Given the description of an element on the screen output the (x, y) to click on. 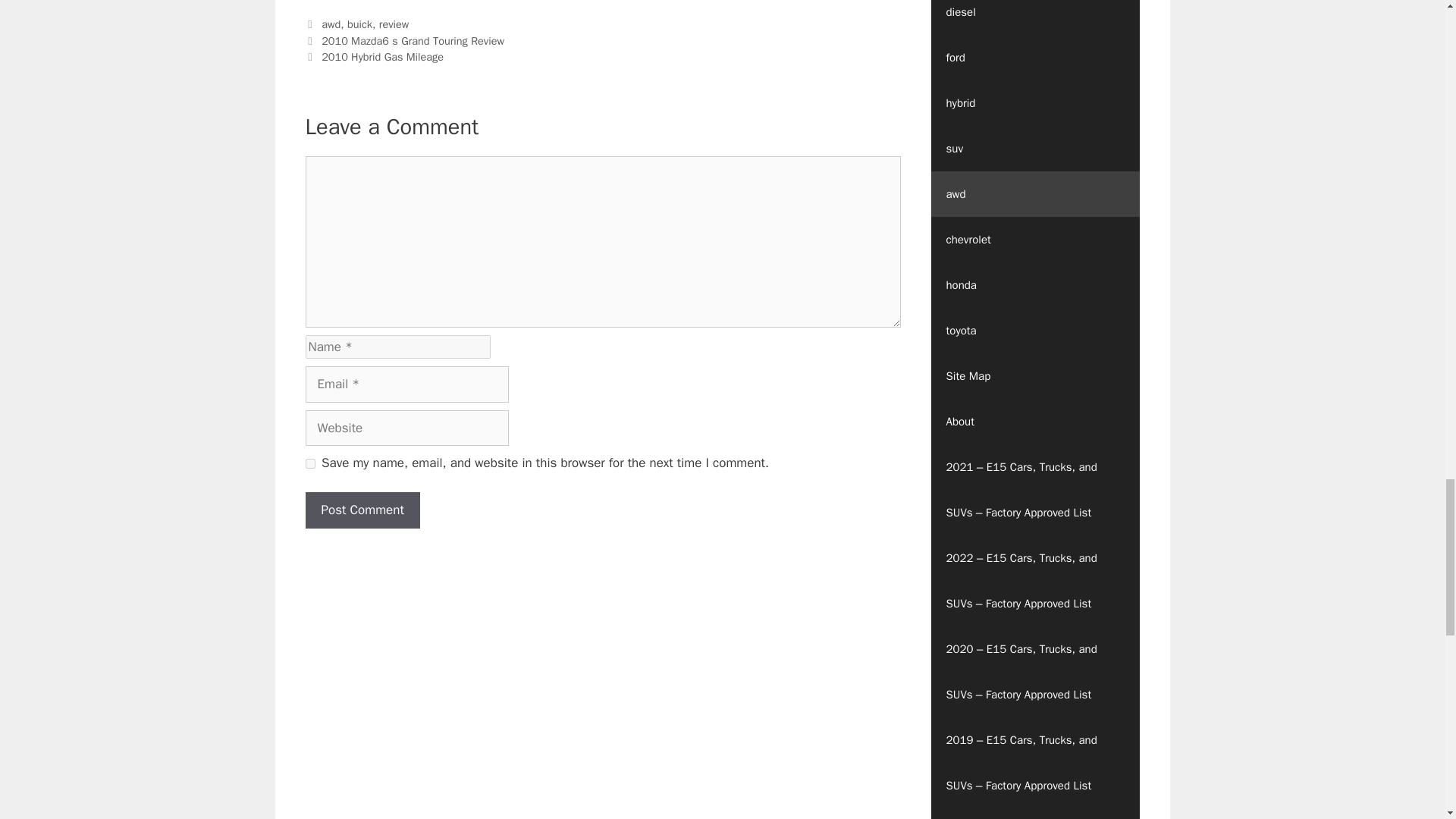
Post Comment (361, 510)
buick (359, 24)
yes (309, 463)
2010 Hybrid Gas Mileage (382, 56)
awd (330, 24)
Post Comment (361, 510)
review (393, 24)
2010 Mazda6 s Grand Touring Review (412, 40)
